Given the description of an element on the screen output the (x, y) to click on. 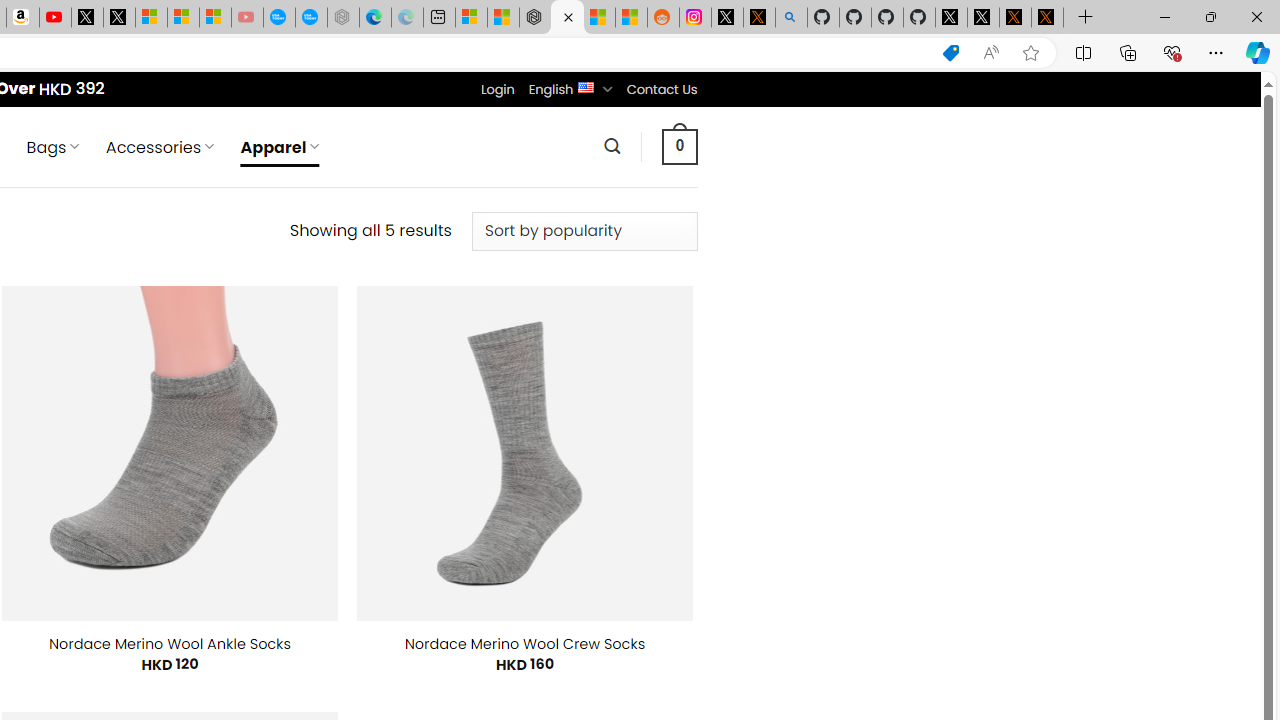
github - Search (791, 17)
Contact Us (661, 89)
Opinion: Op-Ed and Commentary - USA TODAY (279, 17)
help.x.com | 524: A timeout occurred (758, 17)
Gloom - YouTube - Sleeping (246, 17)
